Given the description of an element on the screen output the (x, y) to click on. 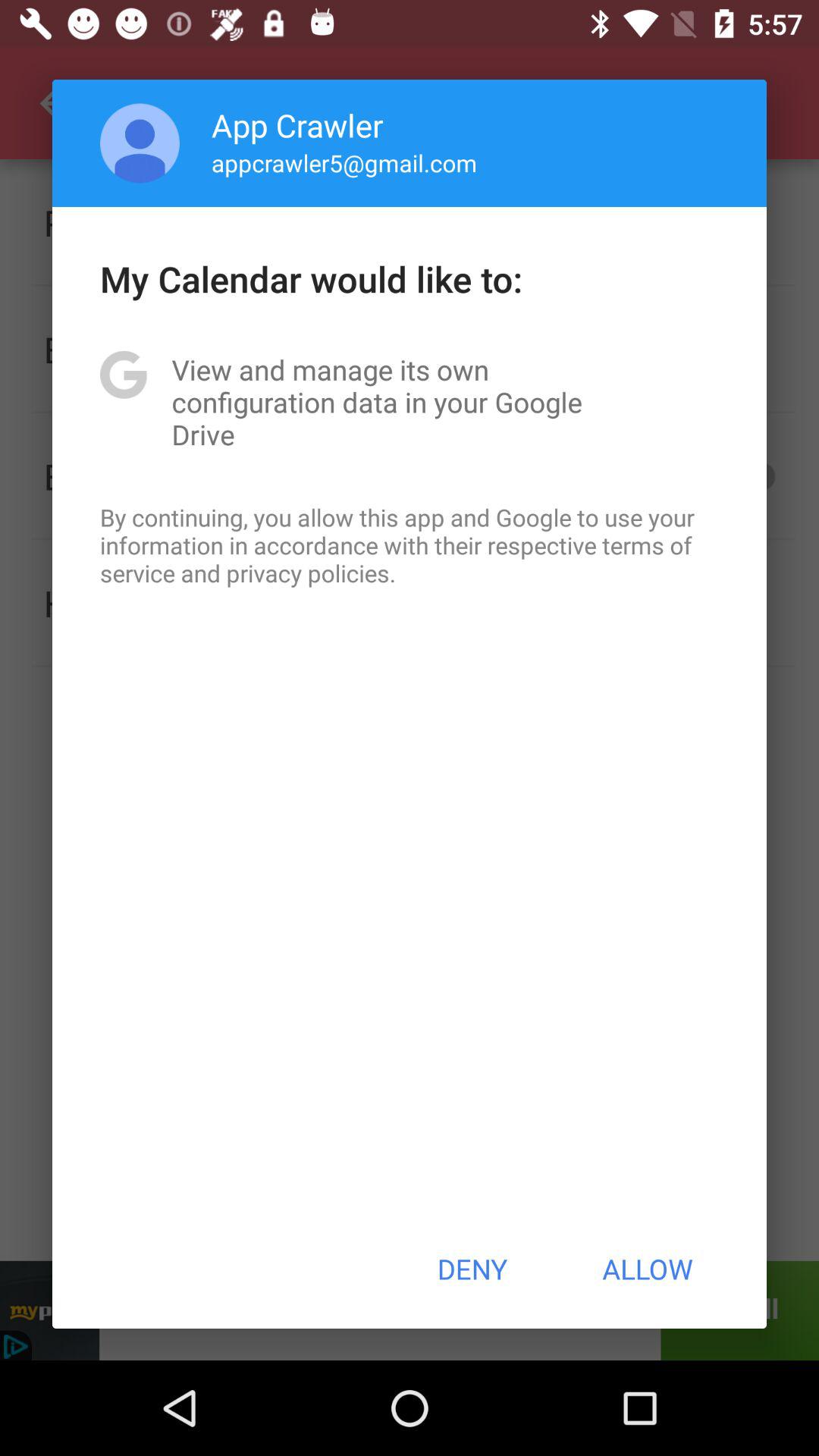
turn on the app above my calendar would app (139, 143)
